Given the description of an element on the screen output the (x, y) to click on. 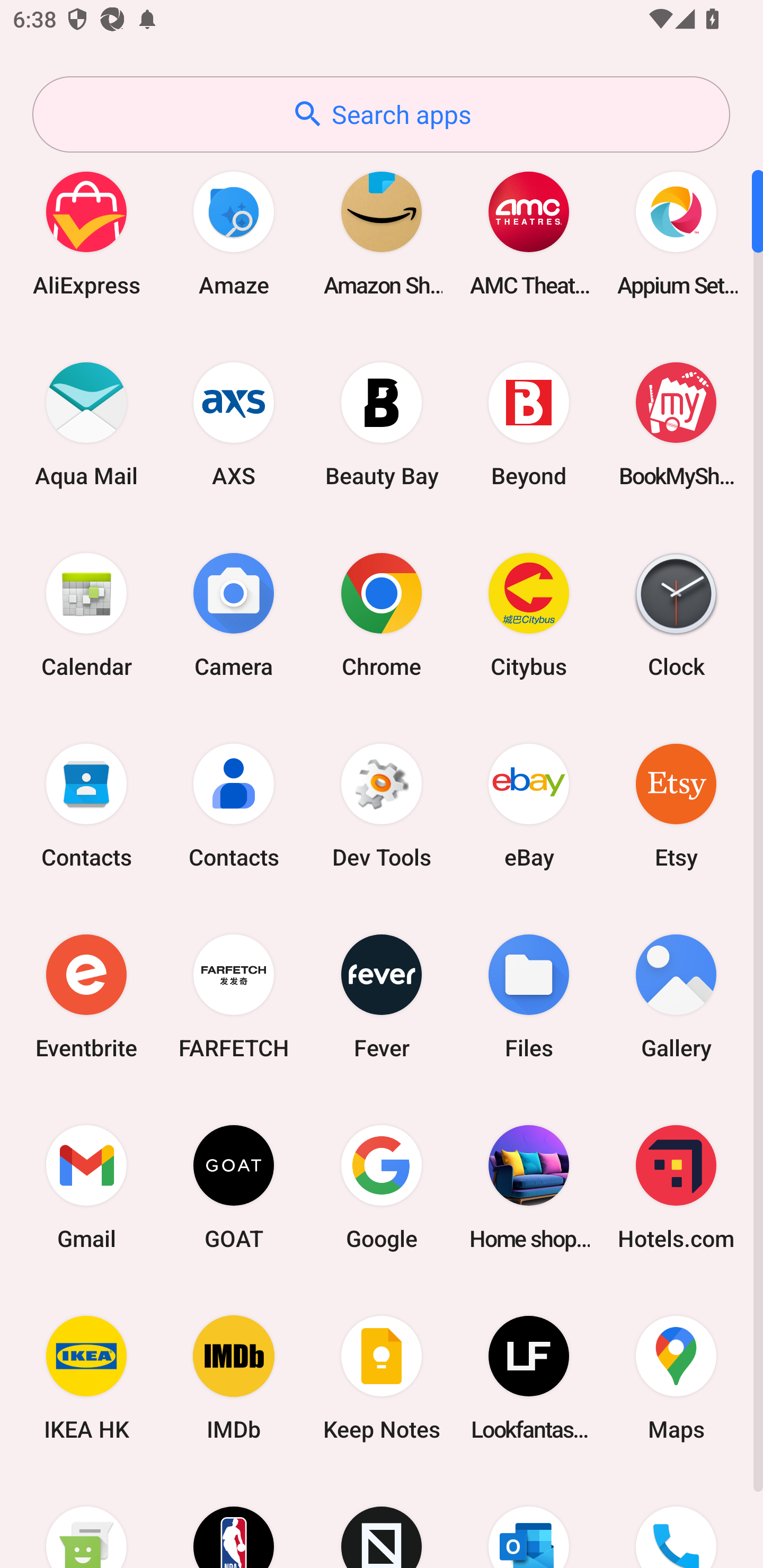
  Search apps (381, 114)
AliExpress (86, 233)
Amaze (233, 233)
Amazon Shopping (381, 233)
AMC Theatres (528, 233)
Appium Settings (676, 233)
Aqua Mail (86, 424)
AXS (233, 424)
Beauty Bay (381, 424)
Beyond (528, 424)
BookMyShow (676, 424)
Calendar (86, 614)
Camera (233, 614)
Chrome (381, 614)
Citybus (528, 614)
Clock (676, 614)
Contacts (86, 805)
Contacts (233, 805)
Dev Tools (381, 805)
eBay (528, 805)
Etsy (676, 805)
Eventbrite (86, 996)
FARFETCH (233, 996)
Fever (381, 996)
Files (528, 996)
Gallery (676, 996)
Gmail (86, 1186)
GOAT (233, 1186)
Google (381, 1186)
Home shopping (528, 1186)
Hotels.com (676, 1186)
IKEA HK (86, 1377)
IMDb (233, 1377)
Keep Notes (381, 1377)
Lookfantastic (528, 1377)
Maps (676, 1377)
